Given the description of an element on the screen output the (x, y) to click on. 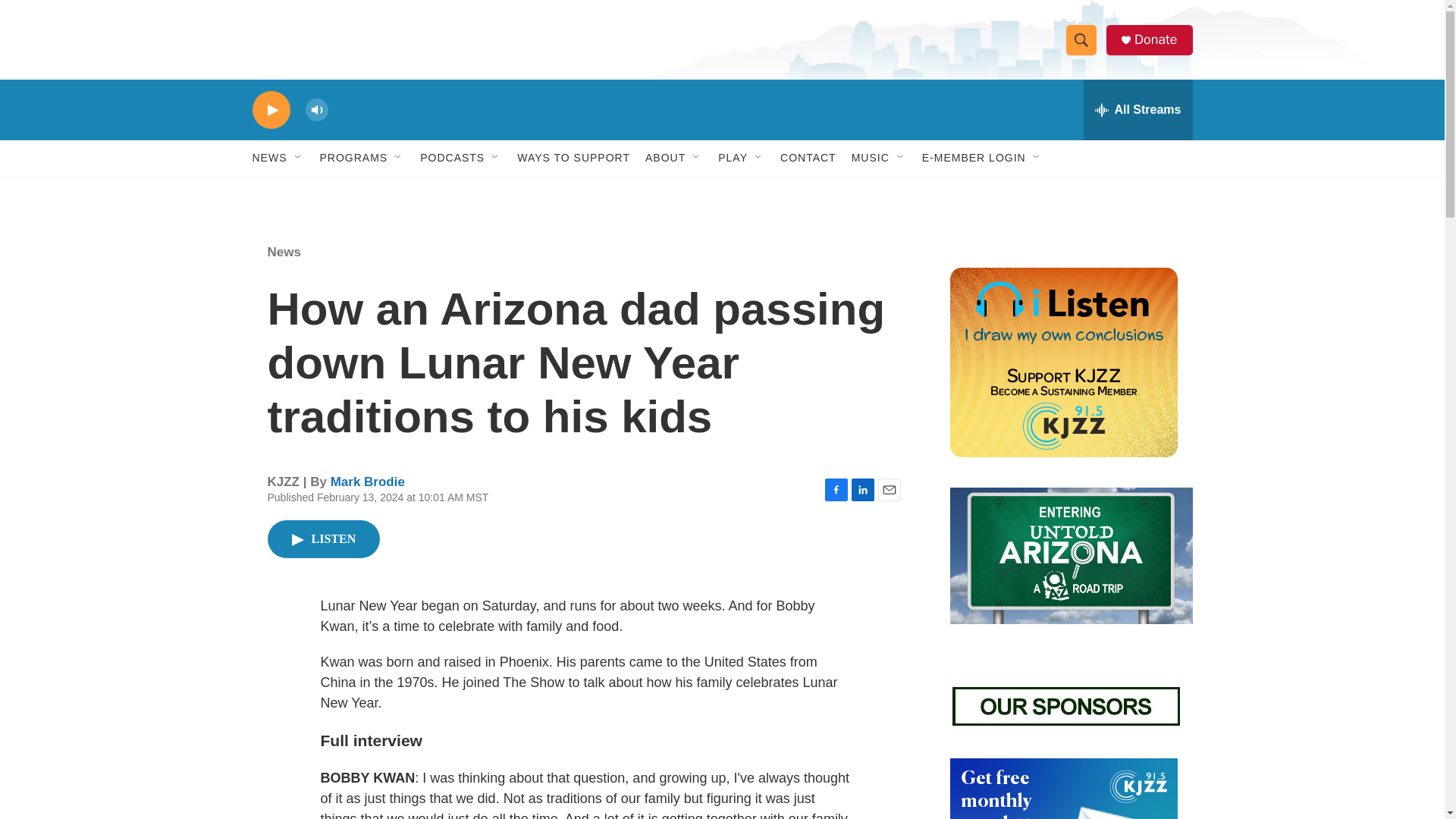
Subscribe to our newsletters (1062, 788)
